Given the description of an element on the screen output the (x, y) to click on. 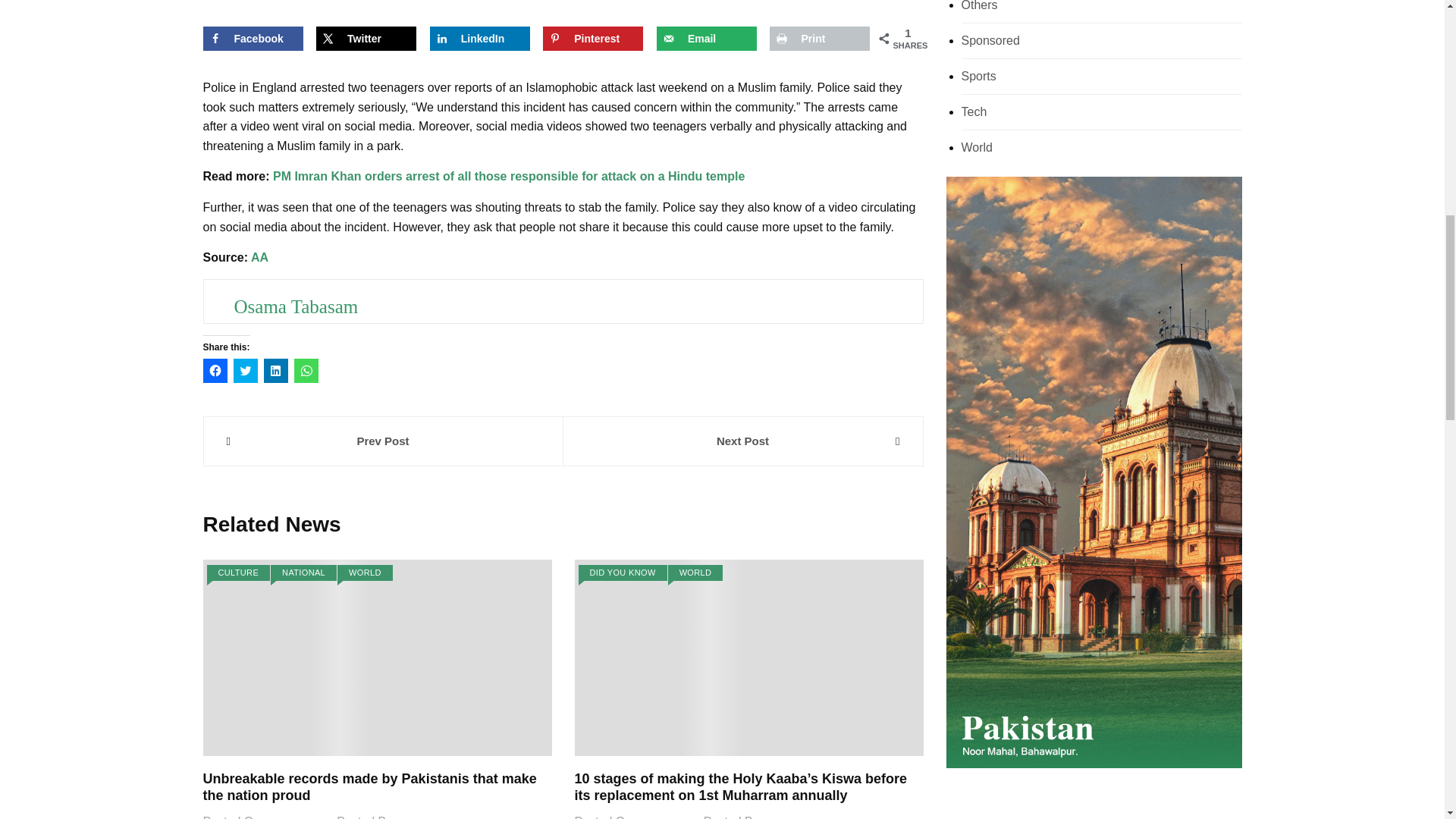
Prev Post (381, 441)
Click to share on WhatsApp (306, 370)
Share on Facebook (252, 38)
Share on LinkedIn (479, 38)
Email (706, 38)
Click to share on LinkedIn (275, 370)
Twitter (365, 38)
Next Post (742, 441)
CULTURE (237, 572)
